Given the description of an element on the screen output the (x, y) to click on. 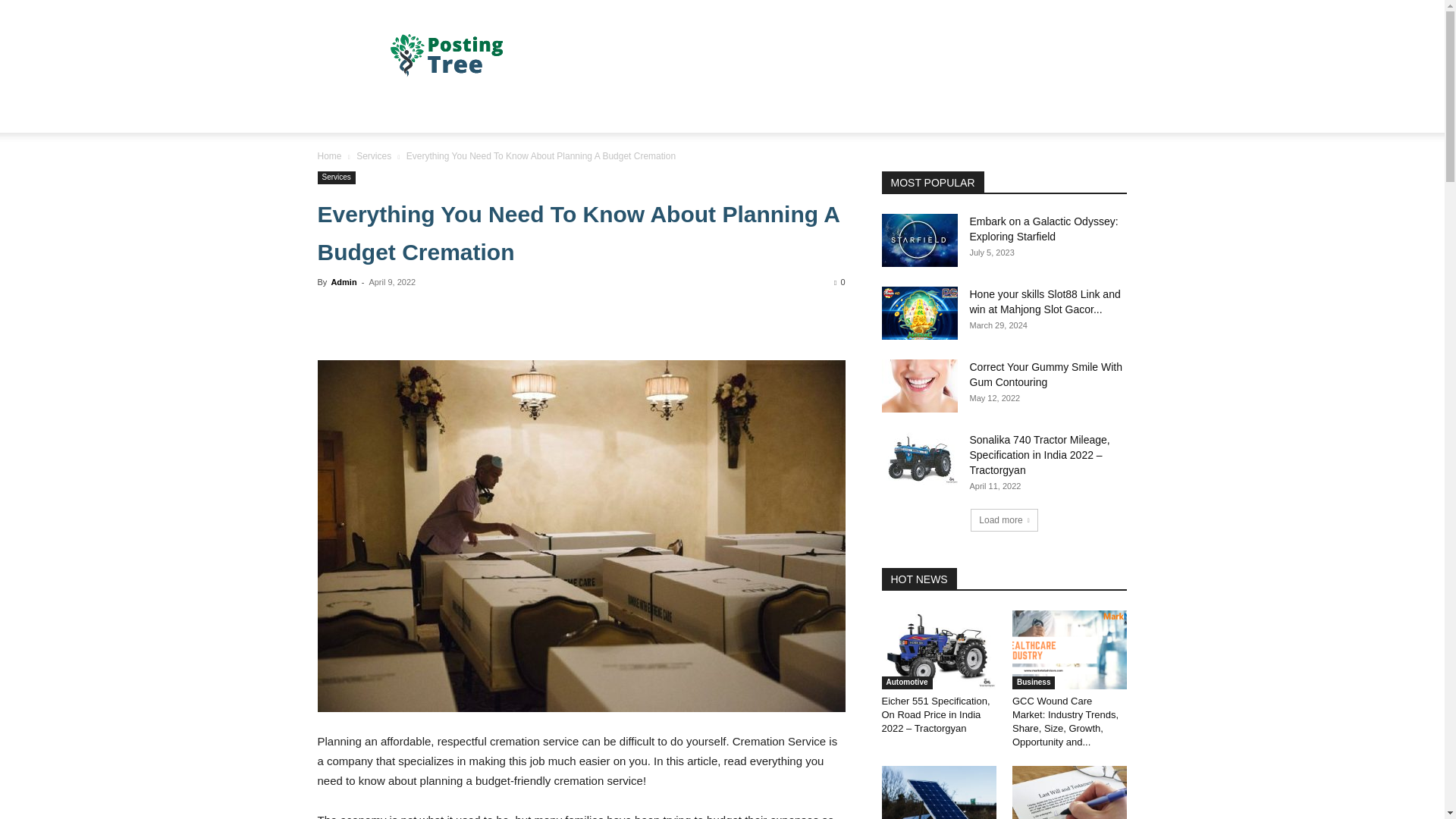
Admin (343, 281)
HEALTH (477, 114)
Services (336, 177)
TECHNOLOGY (557, 114)
BUSINESS (407, 114)
0 (839, 281)
View all posts in Services (373, 155)
EDUCATION (646, 114)
Services (373, 155)
Home (328, 155)
